Given the description of an element on the screen output the (x, y) to click on. 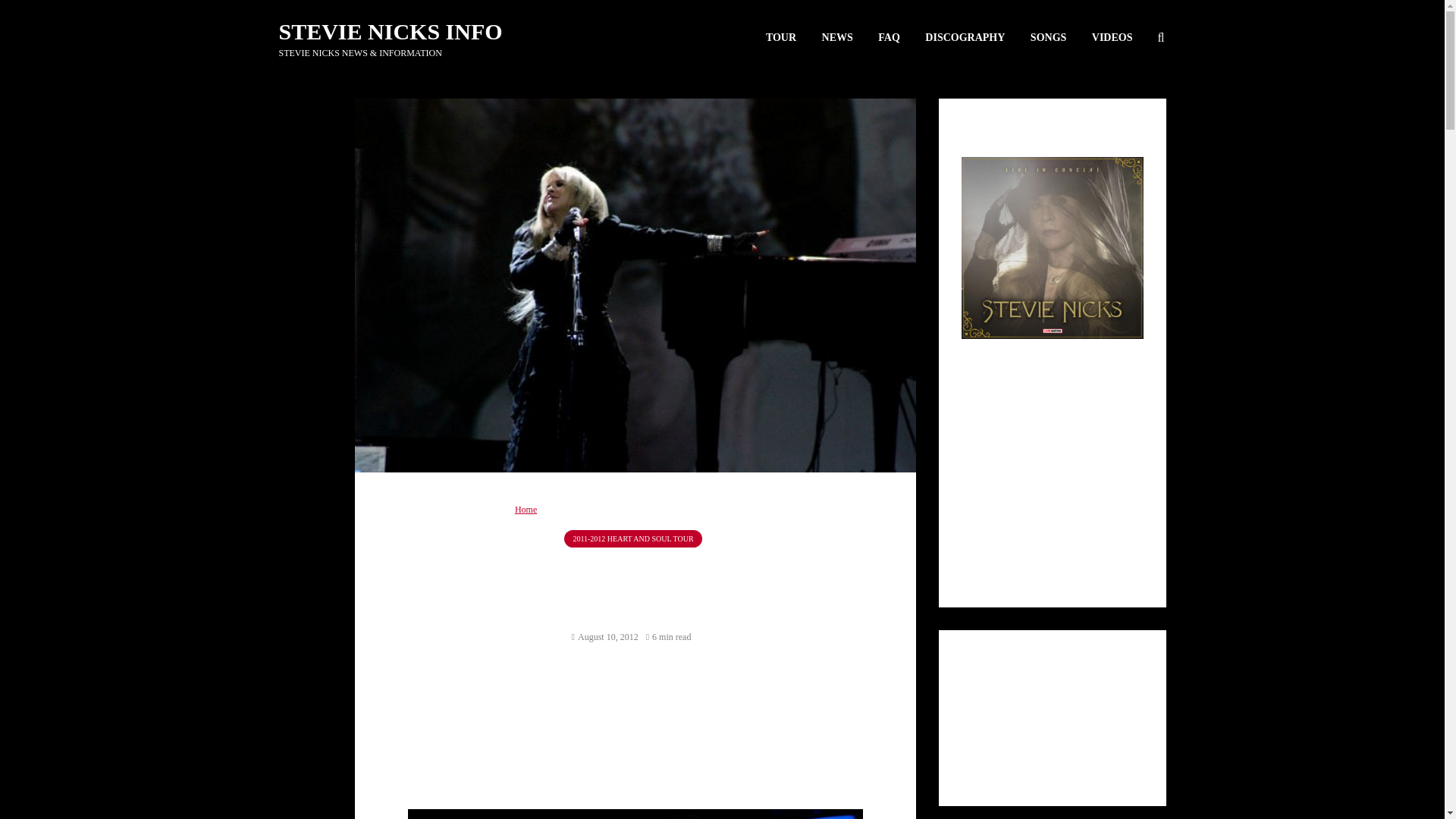
SONGS (1048, 37)
STEVIE NICKS INFO (390, 31)
VIDEOS (1112, 37)
TOUR (781, 37)
2011-2012 HEART AND SOUL TOUR (632, 538)
DISCOGRAPHY (965, 37)
FAQ (888, 37)
Home (526, 509)
NEWS (837, 37)
